Given the description of an element on the screen output the (x, y) to click on. 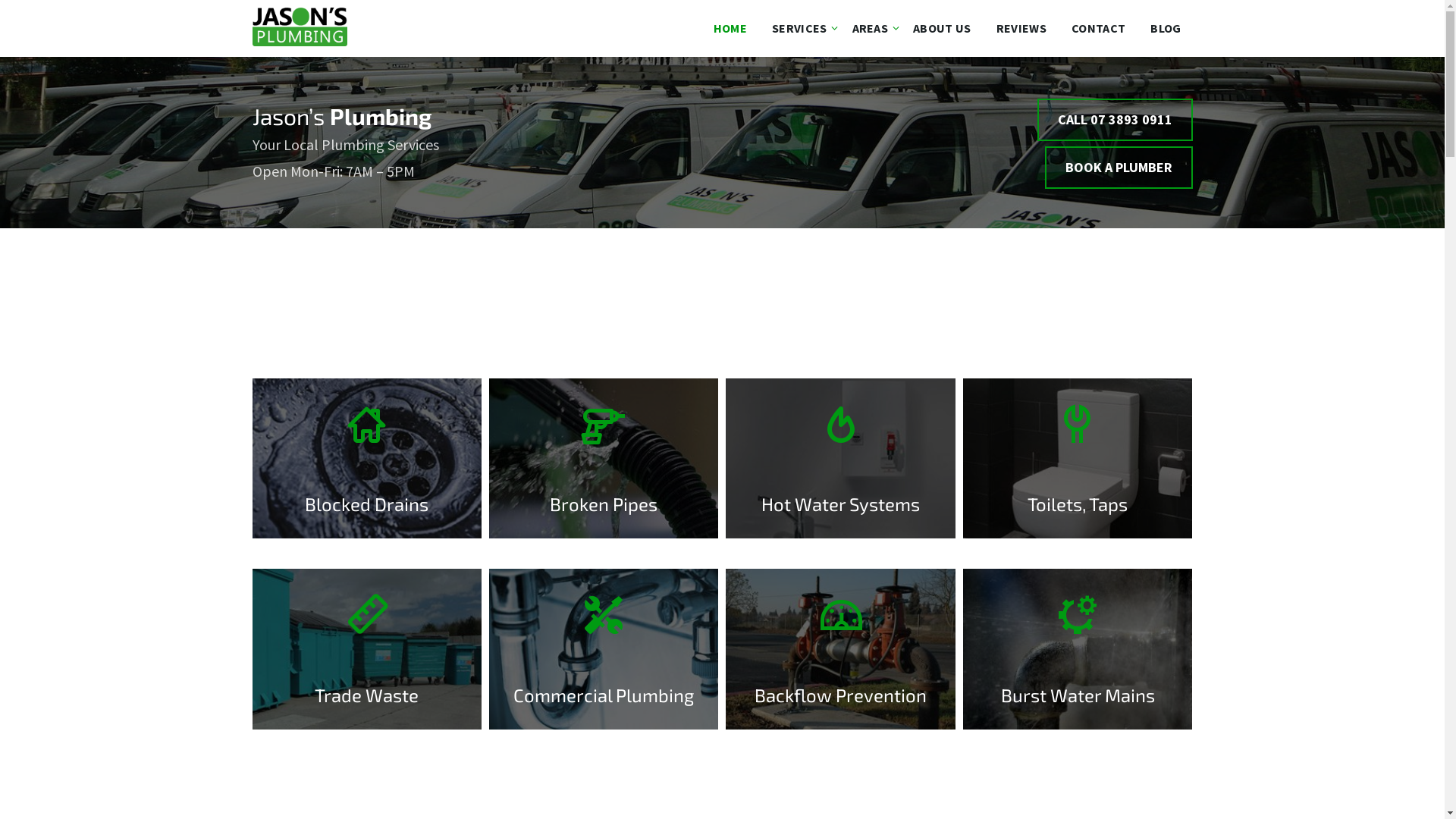
More Info Element type: text (839, 648)
HOME Element type: text (730, 27)
Blocked Drains Element type: text (366, 514)
Hot Water Systems Element type: text (840, 514)
Backflow Prevention Element type: text (840, 706)
More Info Element type: text (365, 458)
More Info Element type: text (1077, 648)
BLOG Element type: text (1165, 27)
More Info Element type: text (603, 648)
More Info Element type: text (365, 648)
Trade Waste Element type: text (366, 706)
Broken Pipes Element type: text (603, 514)
REVIEWS Element type: text (1021, 27)
More Info Element type: text (1077, 458)
Burst Water Mains Element type: text (1077, 706)
Toilets, Taps Element type: text (1077, 514)
CALL 07 3893 0911 Element type: text (1114, 119)
More Info Element type: text (839, 458)
SERVICES Element type: text (799, 27)
CONTACT Element type: text (1098, 27)
BOOK A PLUMBER Element type: text (1118, 167)
More Info Element type: text (603, 458)
Commercial Plumbing Element type: text (603, 706)
ABOUT US Element type: text (941, 27)
AREAS Element type: text (870, 27)
